Given the description of an element on the screen output the (x, y) to click on. 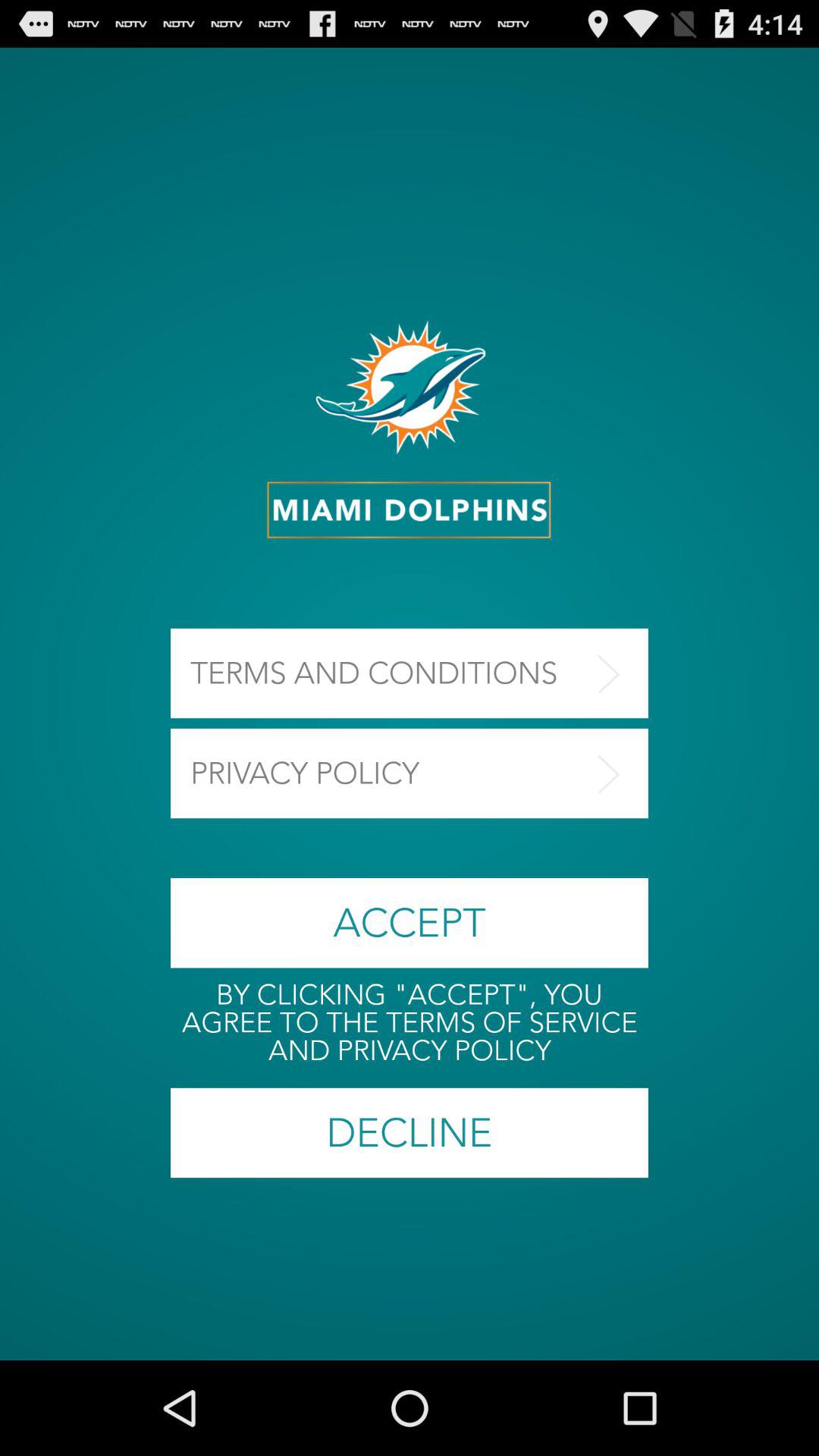
turn on icon below by clicking accept item (409, 1132)
